Given the description of an element on the screen output the (x, y) to click on. 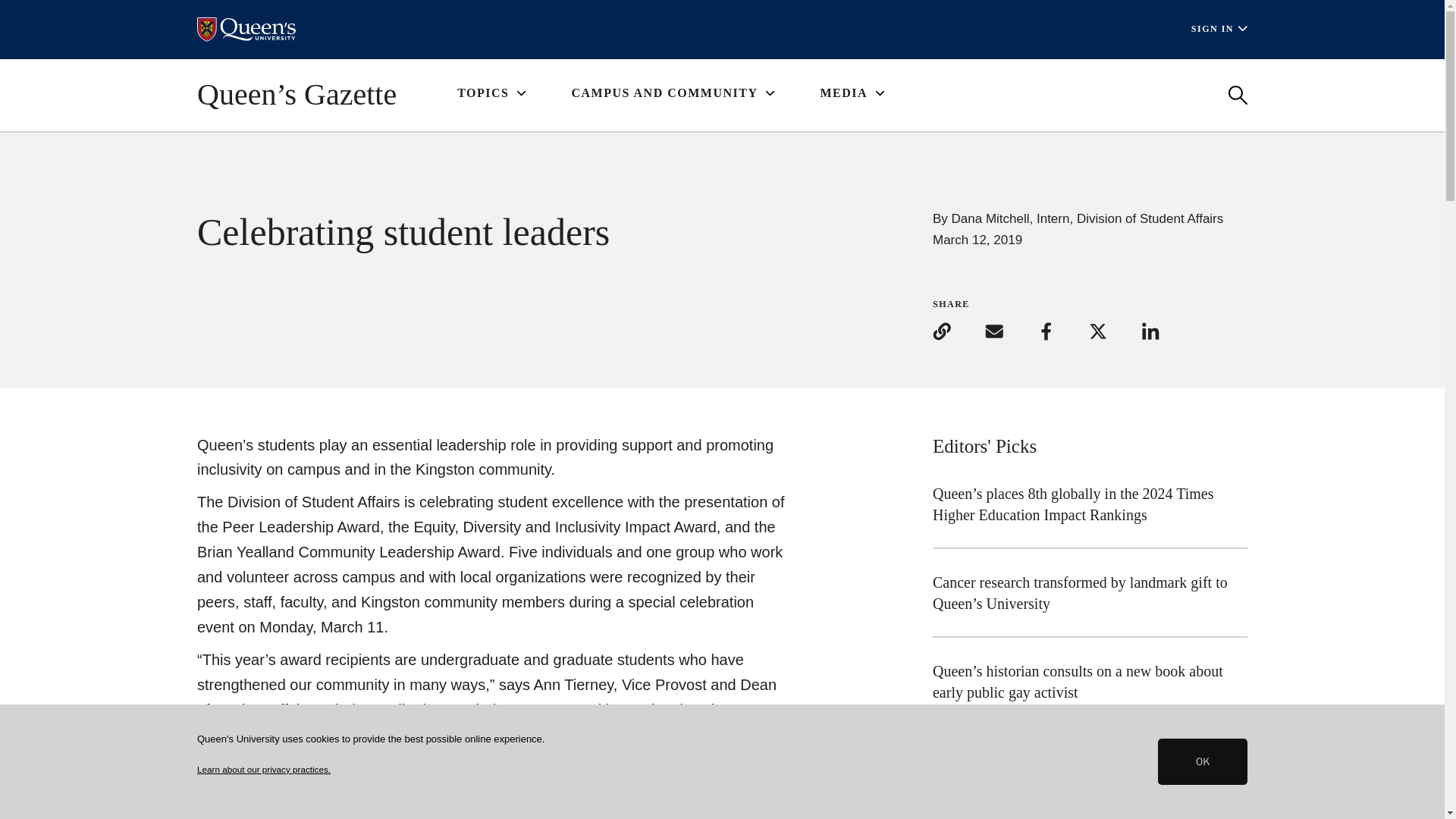
SIGN IN (1219, 29)
Expand menu Topics (491, 94)
Expand menu Media (851, 94)
TOPICS (491, 94)
Expand menu Campus and Community (672, 94)
CAMPUS AND COMMUNITY (672, 94)
Copy link to clipboard (957, 330)
